Given the description of an element on the screen output the (x, y) to click on. 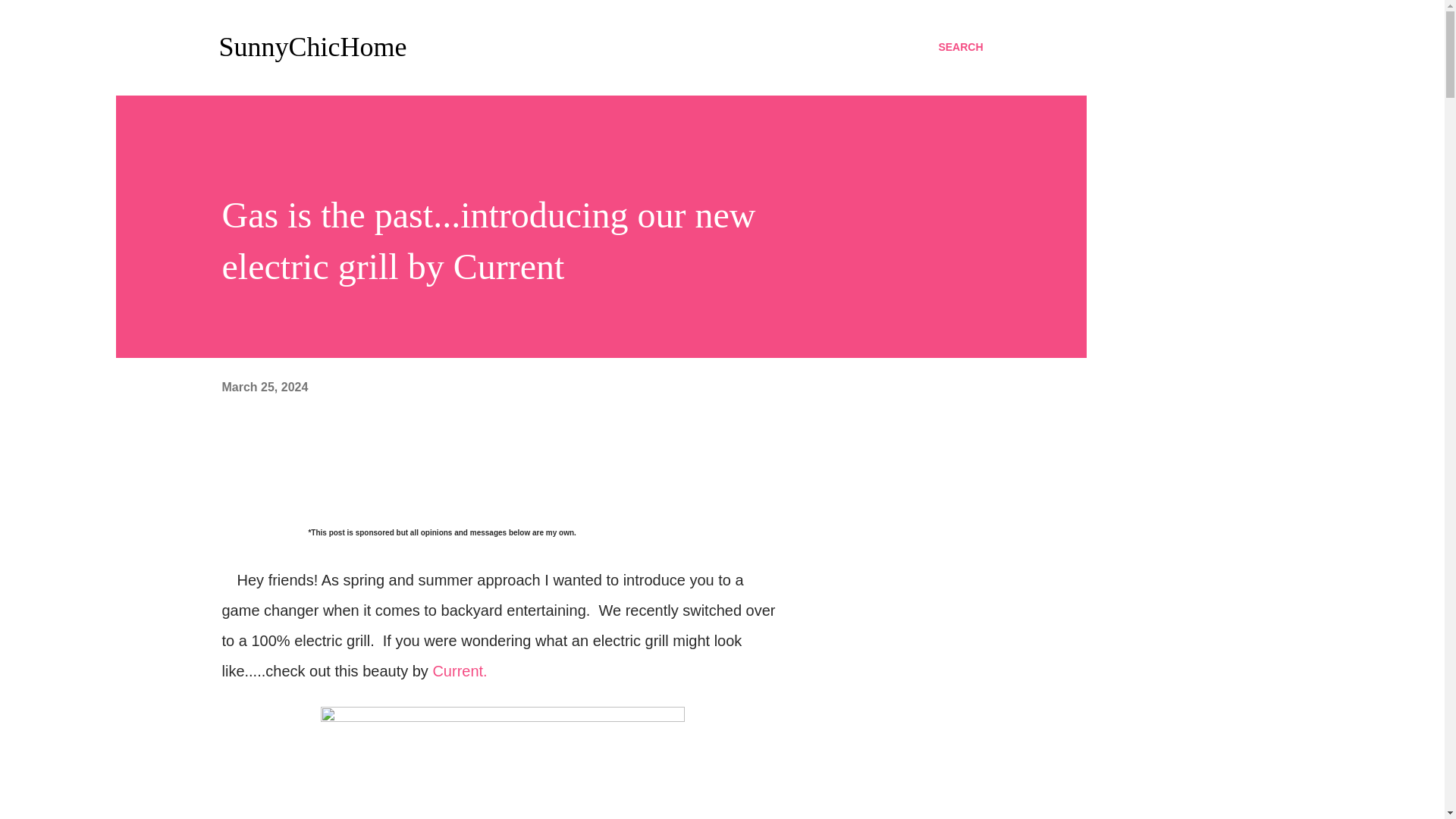
SEARCH (959, 46)
March 25, 2024 (264, 386)
permanent link (264, 386)
SunnyChicHome (312, 46)
Current. (459, 670)
